Given the description of an element on the screen output the (x, y) to click on. 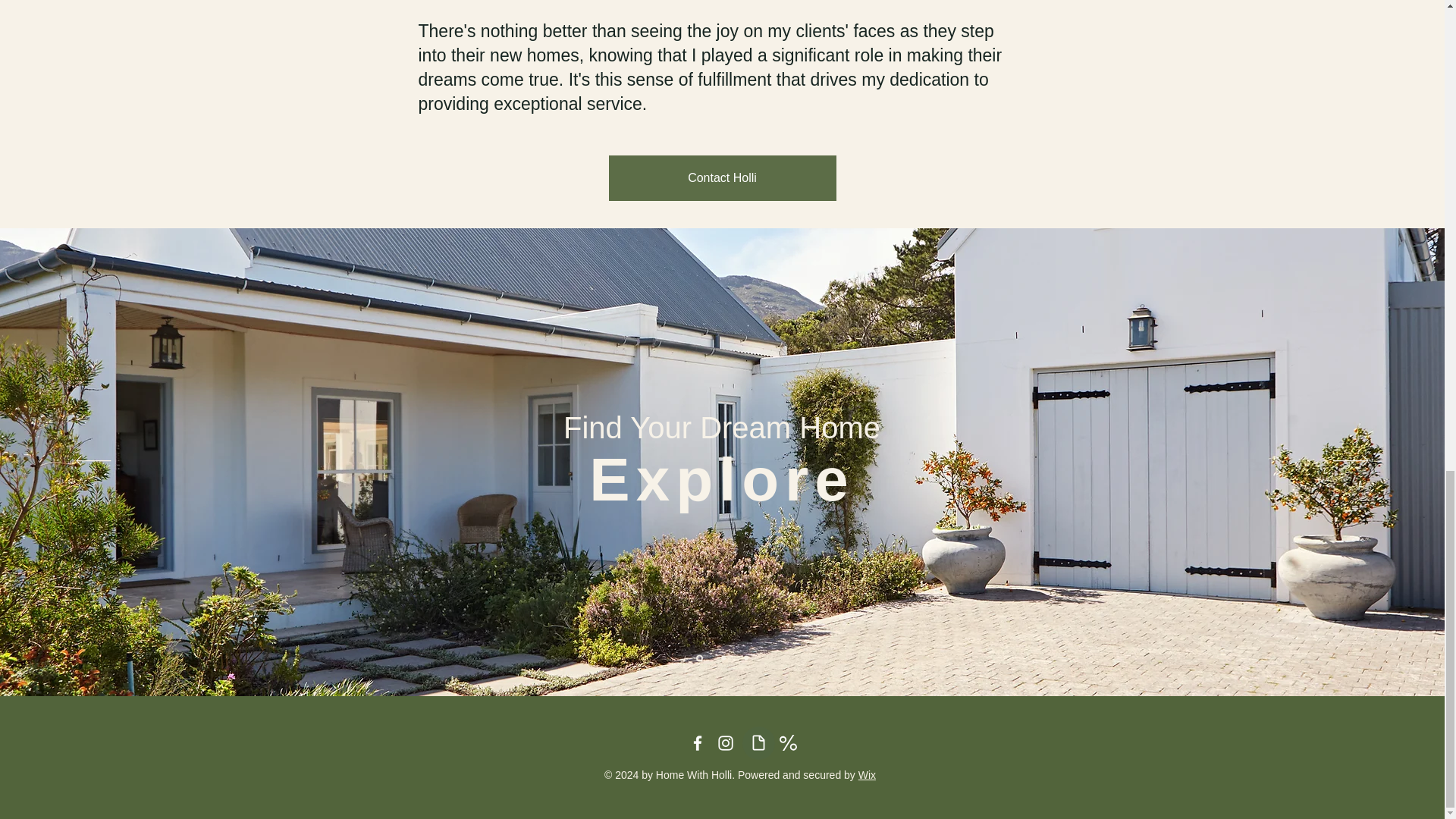
Contact Holli (721, 177)
Wix (867, 775)
